Given the description of an element on the screen output the (x, y) to click on. 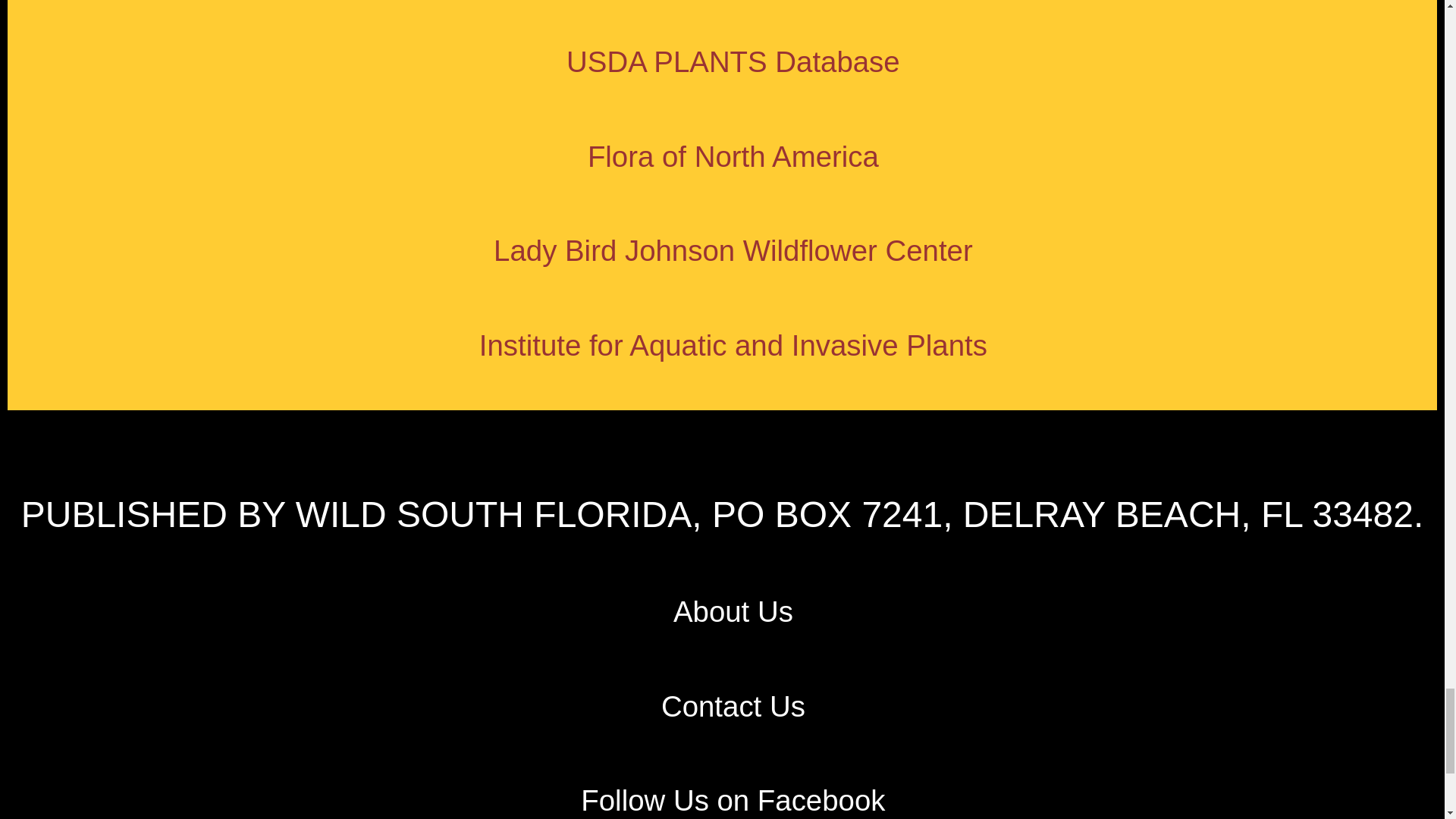
USDA PLANTS Database (732, 61)
Lady Bird Johnson Wildflower Center (732, 250)
Institute for Aquatic and Invasive Plants (733, 345)
Flora of North America (733, 155)
About Us (732, 611)
Follow Us on Facebook (732, 799)
Contact Us (733, 706)
